Given the description of an element on the screen output the (x, y) to click on. 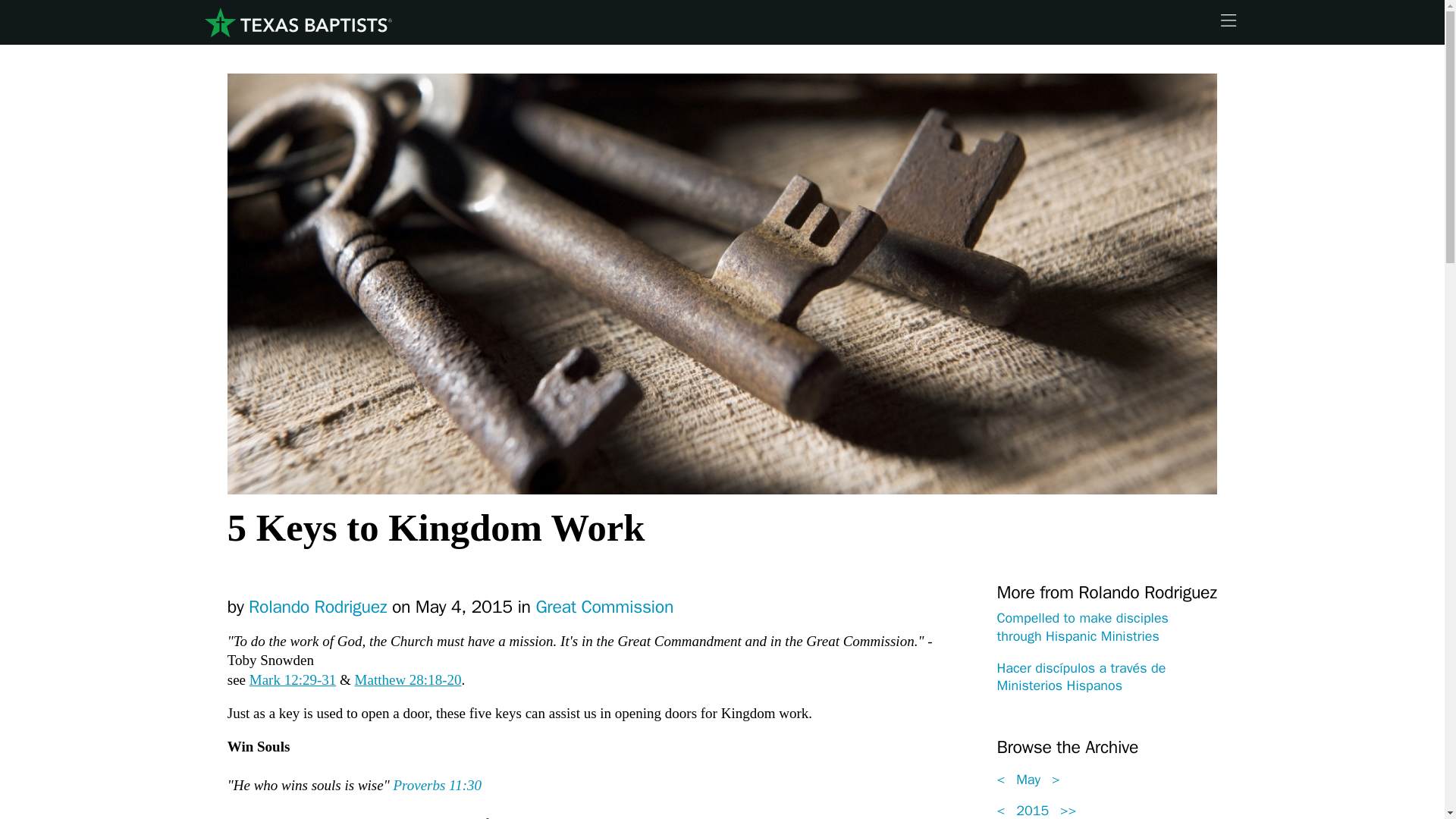
Great Commission (603, 607)
May (1028, 779)
Home (297, 22)
Compelled to make disciples through Hispanic Ministries (1081, 626)
Mark 12:29-31 (292, 679)
2015 (1033, 810)
Rolando Rodriguez (317, 607)
Proverbs 11:30 (519, 794)
Matthew 28:18-20 (408, 679)
